Given the description of an element on the screen output the (x, y) to click on. 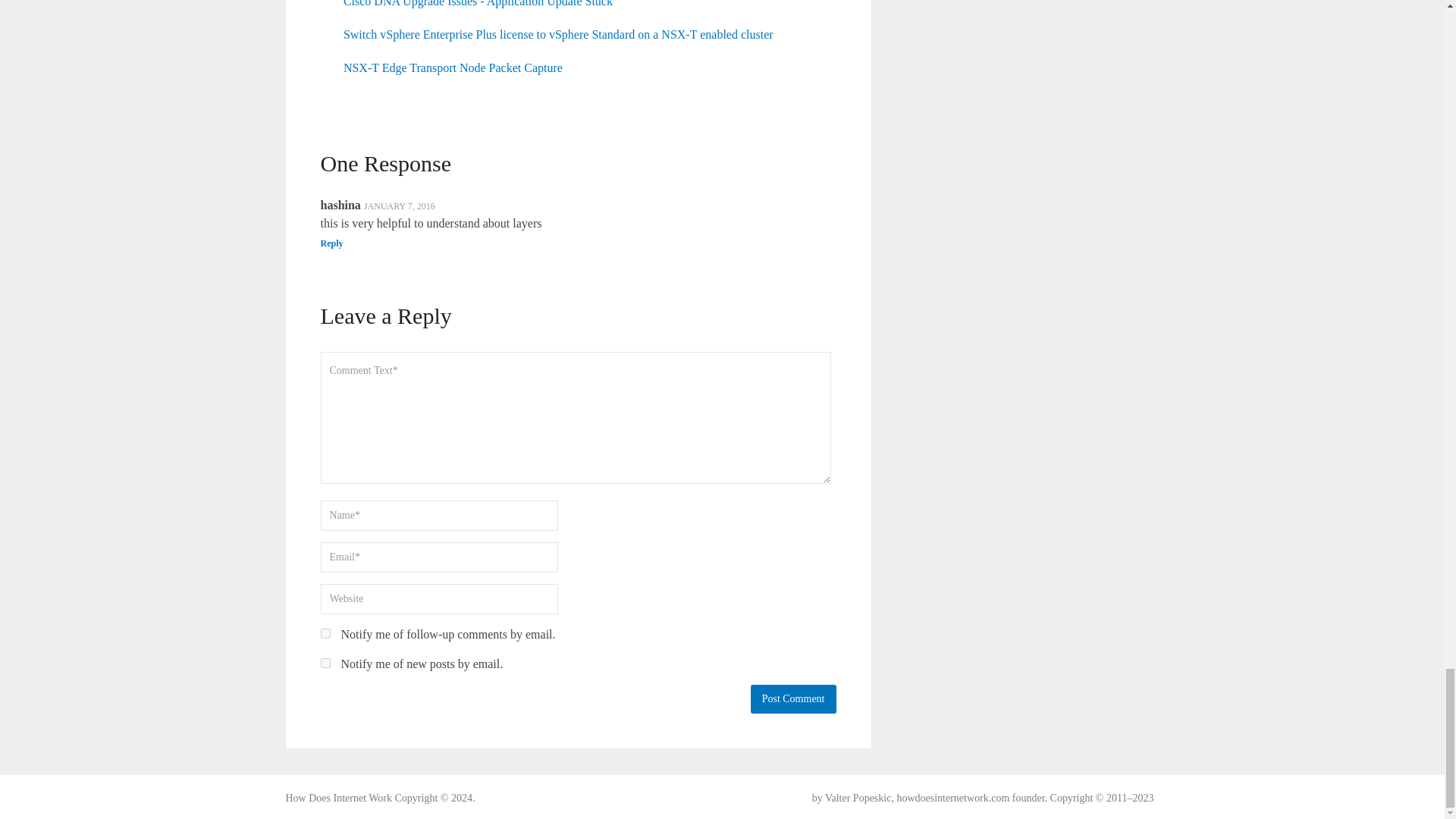
subscribe (325, 633)
Post Comment (793, 698)
subscribe (325, 663)
 About Networking (338, 797)
